Given the description of an element on the screen output the (x, y) to click on. 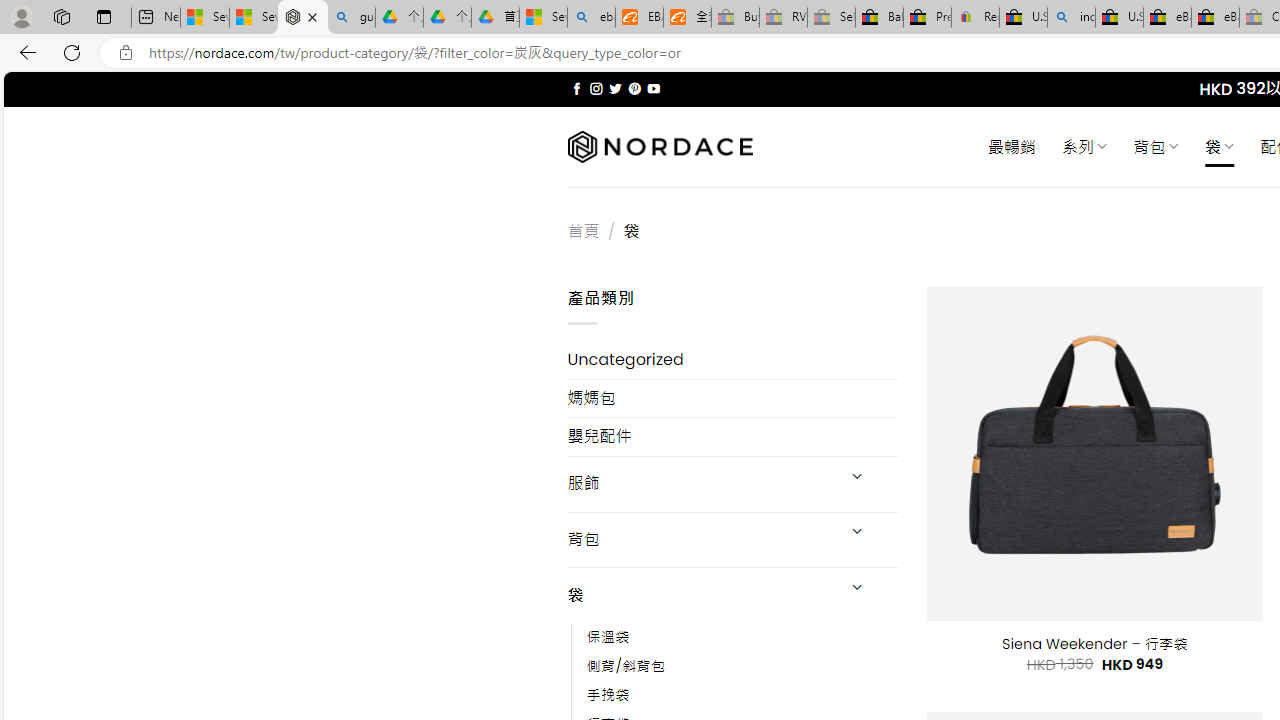
Follow on Pinterest (634, 88)
Follow on YouTube (653, 88)
